Given the description of an element on the screen output the (x, y) to click on. 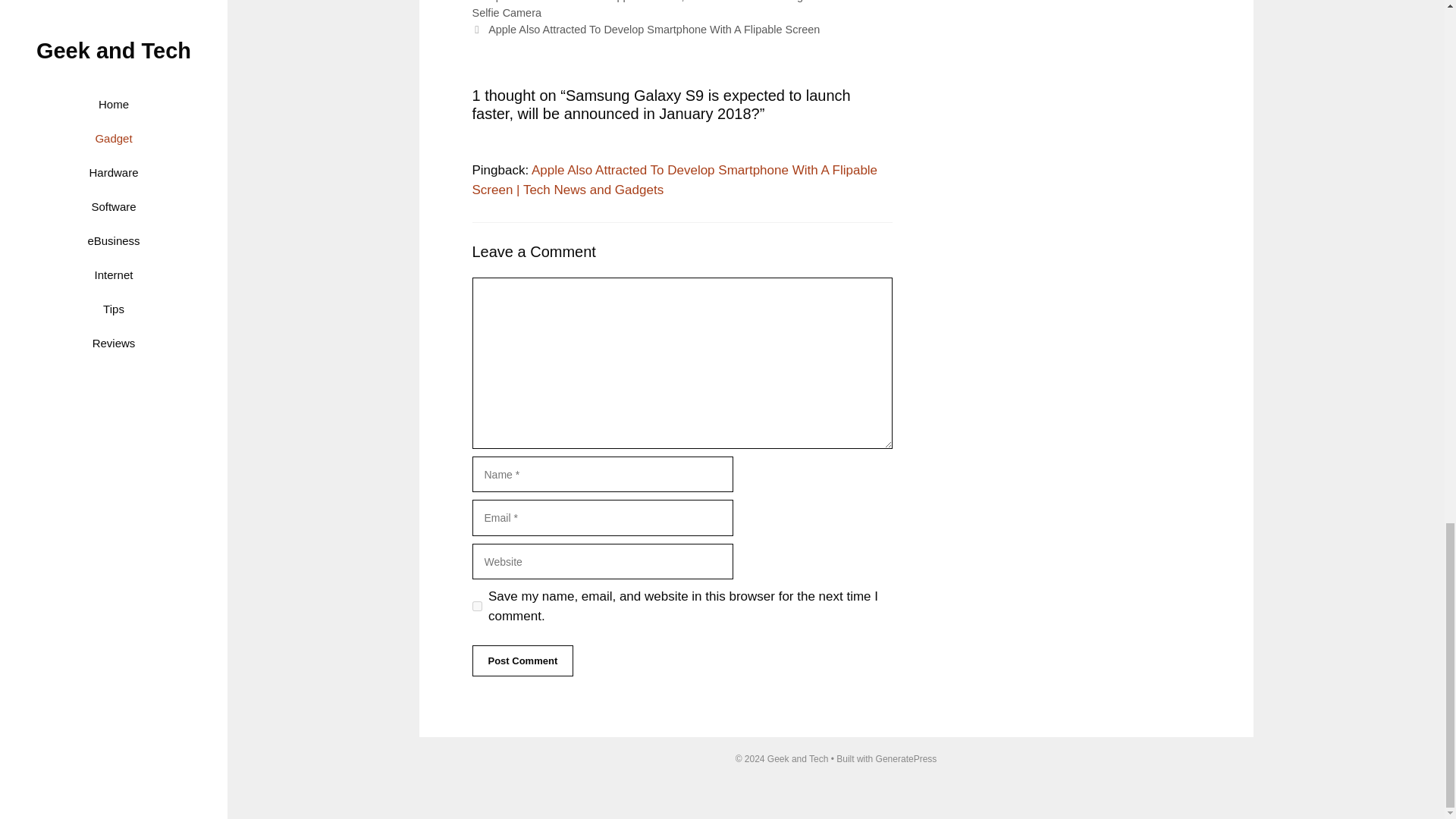
yes (476, 605)
Next (645, 29)
Previous (666, 9)
Post Comment (522, 661)
Post Comment (522, 661)
